Given the description of an element on the screen output the (x, y) to click on. 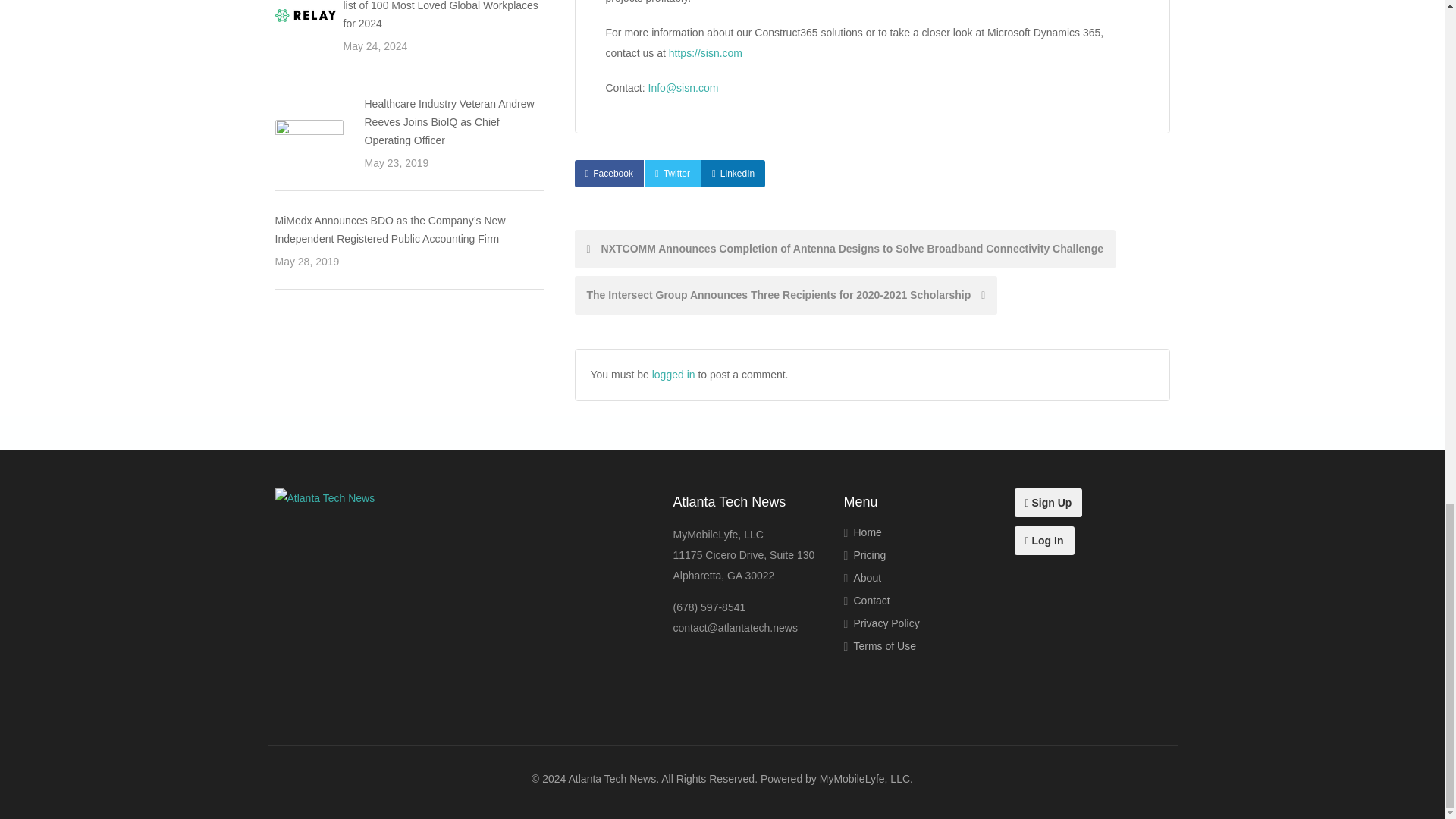
Twitter (672, 173)
Twitter (672, 173)
Facebook (609, 173)
LinkedIn (733, 173)
